Given the description of an element on the screen output the (x, y) to click on. 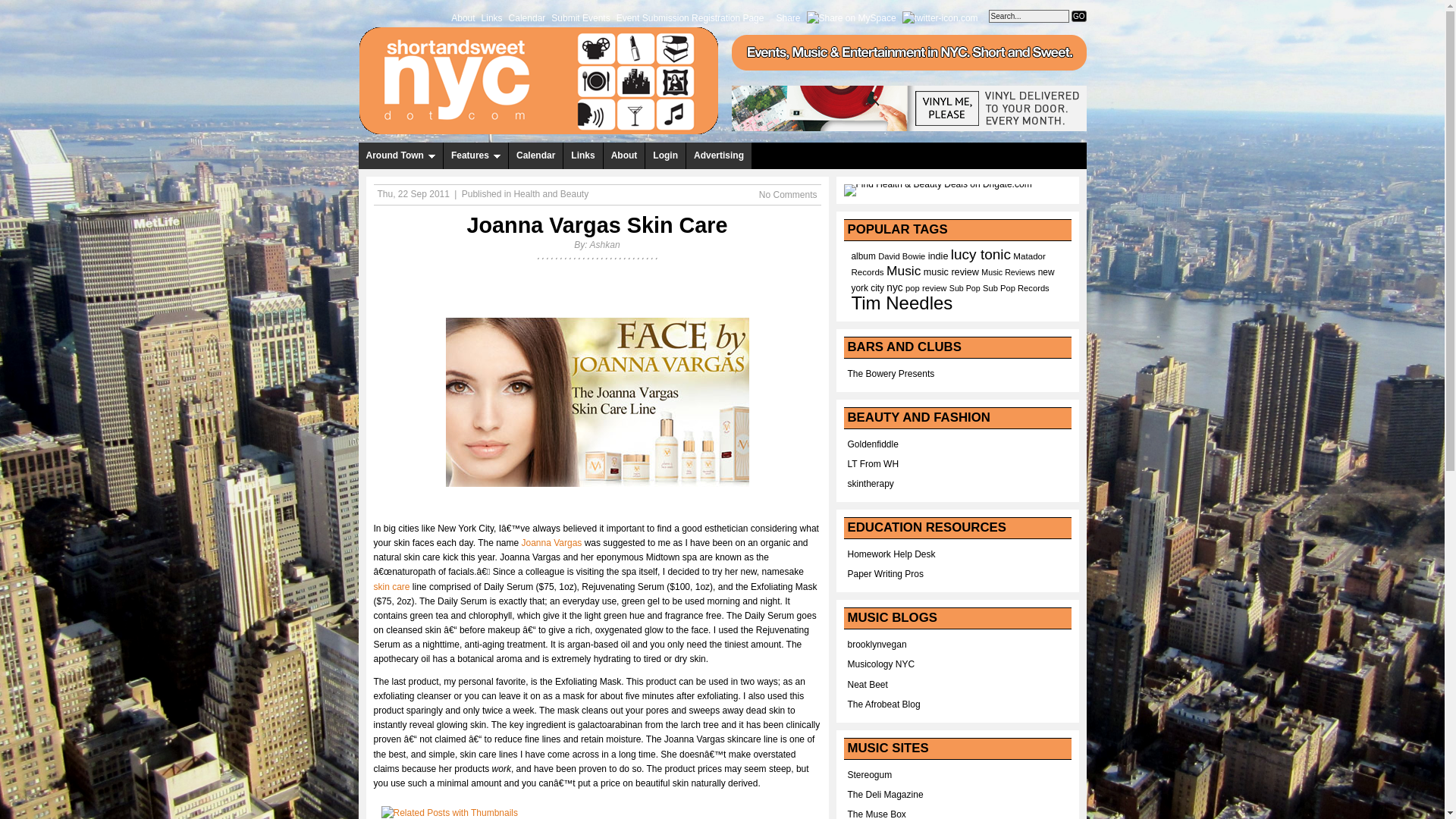
twitter-icon.com (940, 17)
Links (492, 17)
Calendar (526, 17)
Comment on Joanna Vargas Skin Care (787, 194)
GO (1078, 16)
Links (582, 155)
Calendar (535, 155)
View all articles by Ashkan (604, 244)
About (462, 17)
Paper Writing Pros (885, 573)
Features (476, 155)
Share (788, 17)
Submit Events (580, 17)
Event Submission Registration Page (689, 17)
GO (1078, 16)
